Given the description of an element on the screen output the (x, y) to click on. 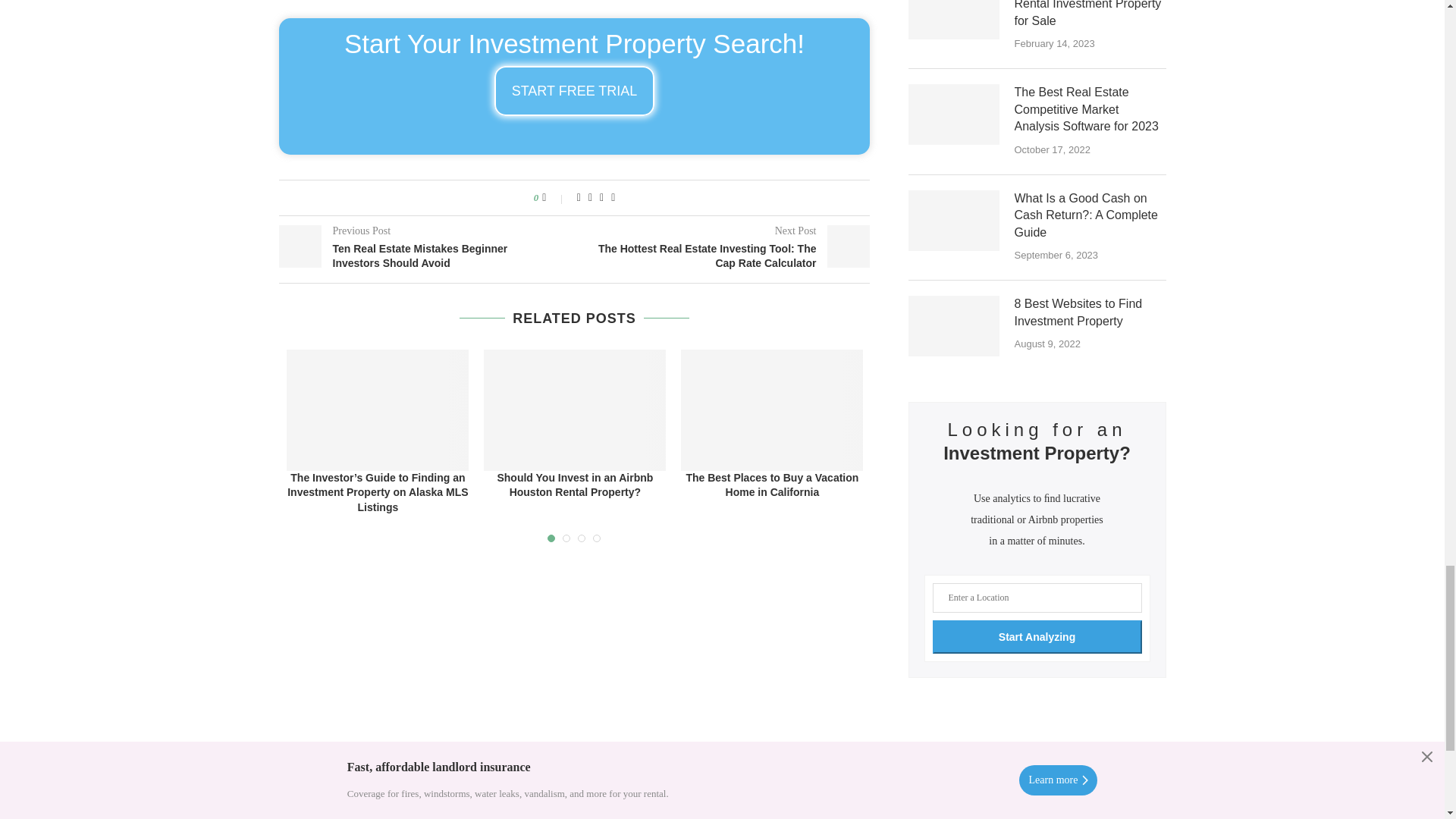
The Best Places to Buy a Vacation Home in California (772, 409)
Like (553, 197)
Should You Invest in an Airbnb Houston Rental Property? (574, 409)
